Given the description of an element on the screen output the (x, y) to click on. 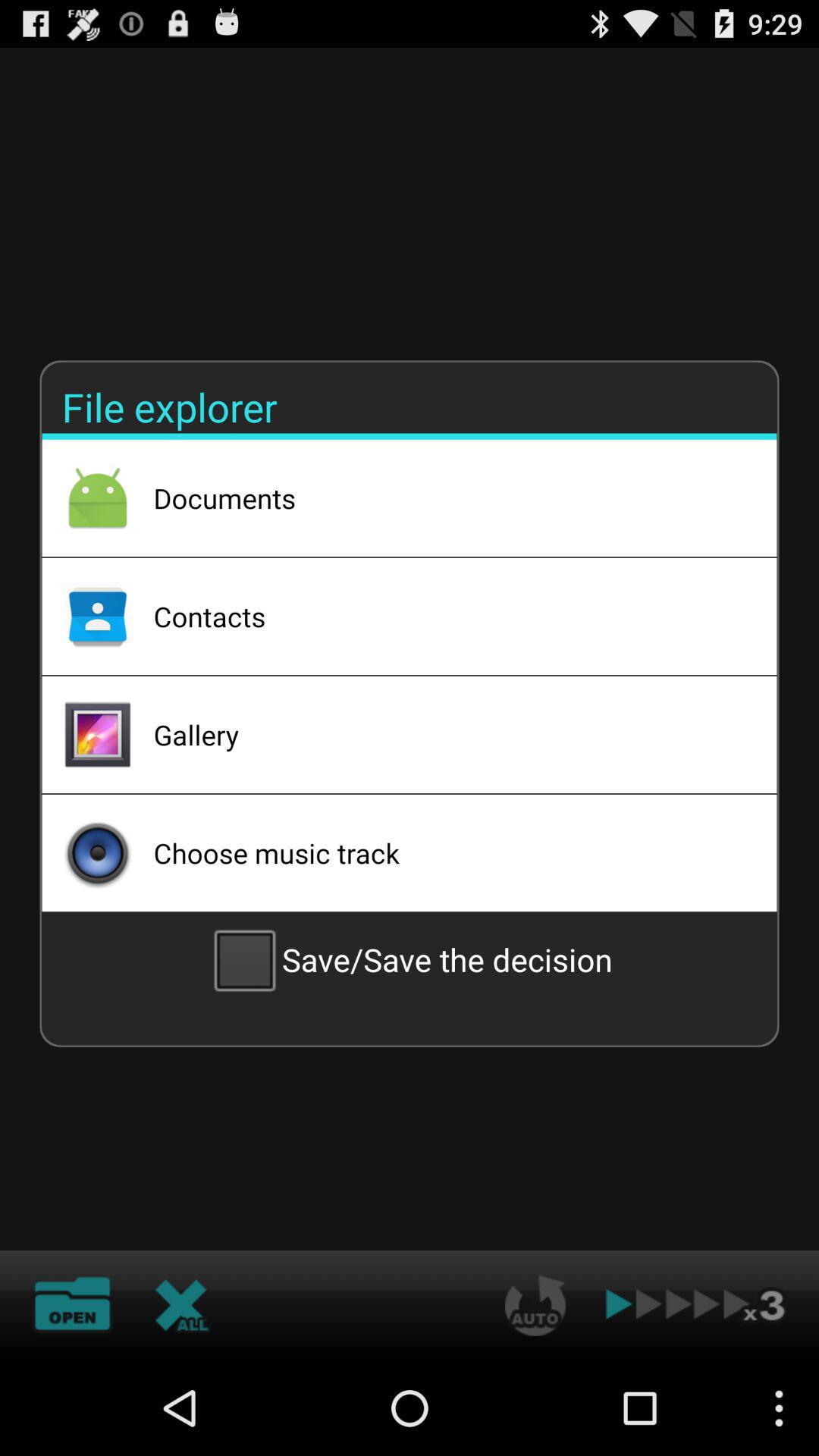
press icon below the choose music track (409, 959)
